Given the description of an element on the screen output the (x, y) to click on. 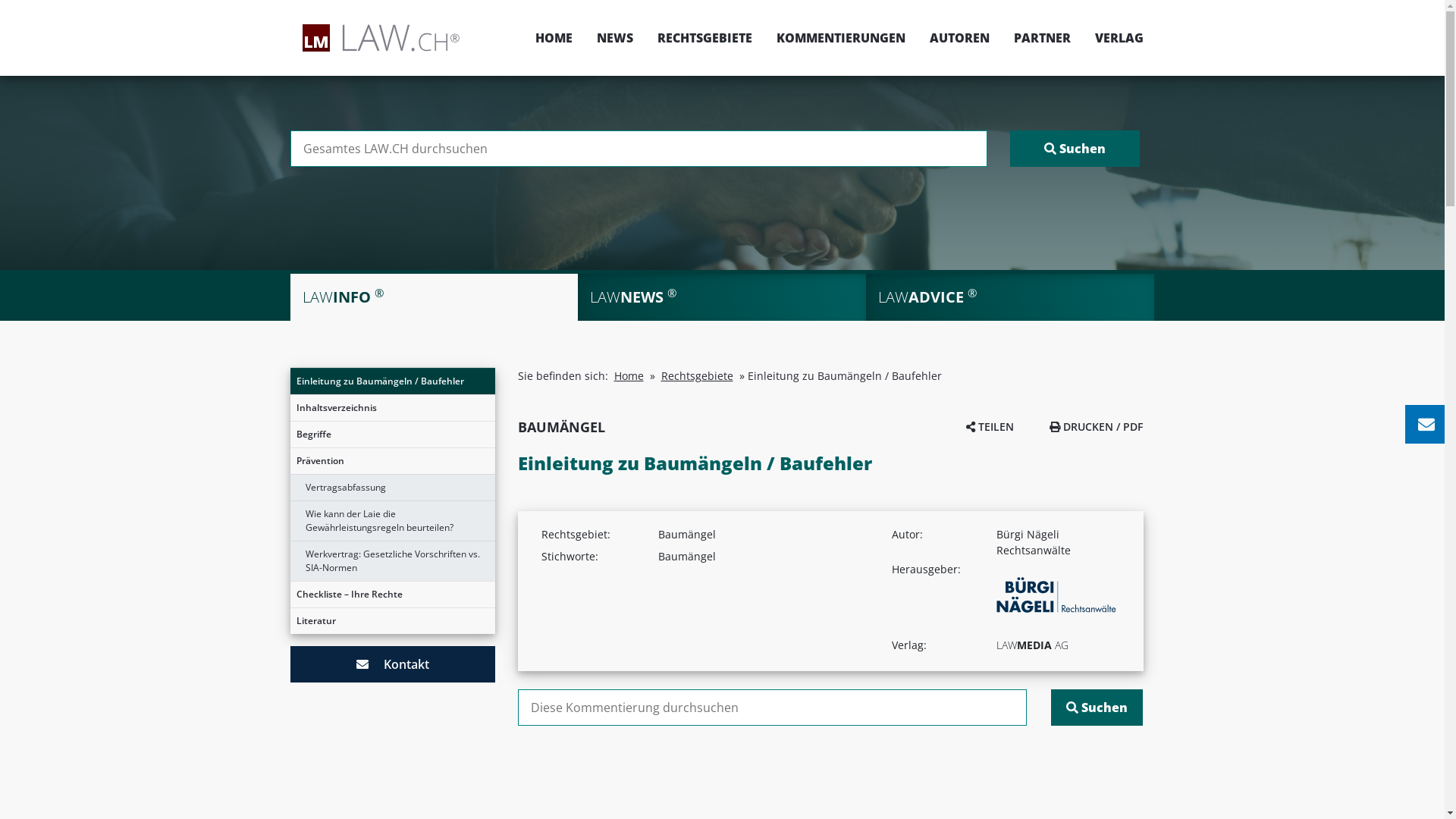
KOMMENTIERUNGEN Element type: text (840, 37)
Suchen nach: Element type: hover (637, 148)
Rechtsgebiete Element type: text (697, 375)
 TEILEN Element type: text (989, 426)
RECHTSGEBIETE Element type: text (703, 37)
PARTNER Element type: text (1041, 37)
Werkvertrag: Gesetzliche Vorschriften vs. SIA-Normen Element type: text (391, 560)
    Kontakt Element type: text (391, 664)
Inhaltsverzeichnis Element type: text (391, 407)
HOME Element type: text (553, 37)
Literatur Element type: text (391, 620)
AUTOREN Element type: text (959, 37)
VERLAG Element type: text (1112, 37)
Home Element type: text (628, 375)
NEWS Element type: text (613, 37)
Vertragsabfassung Element type: text (391, 487)
 DRUCKEN / PDF Element type: text (1095, 426)
Begriffe Element type: text (391, 434)
Suchen nach: Element type: hover (771, 707)
